Given the description of an element on the screen output the (x, y) to click on. 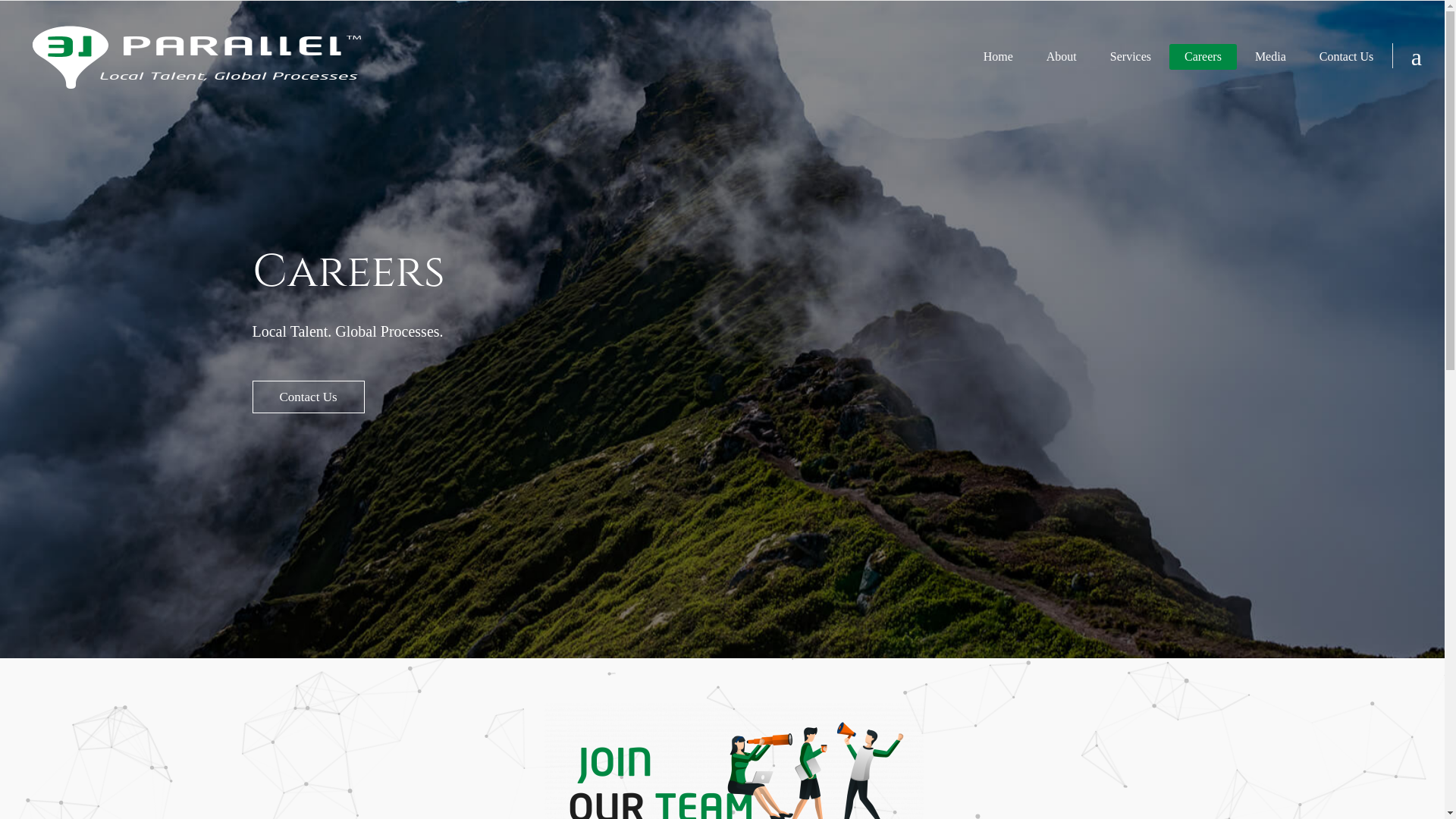
Media Element type: text (1270, 56)
Home Element type: text (998, 56)
Services Element type: text (1130, 56)
About Element type: text (1061, 56)
Careers Element type: text (1202, 56)
Contact Us Element type: text (1346, 56)
Contact Us Element type: text (307, 396)
